Given the description of an element on the screen output the (x, y) to click on. 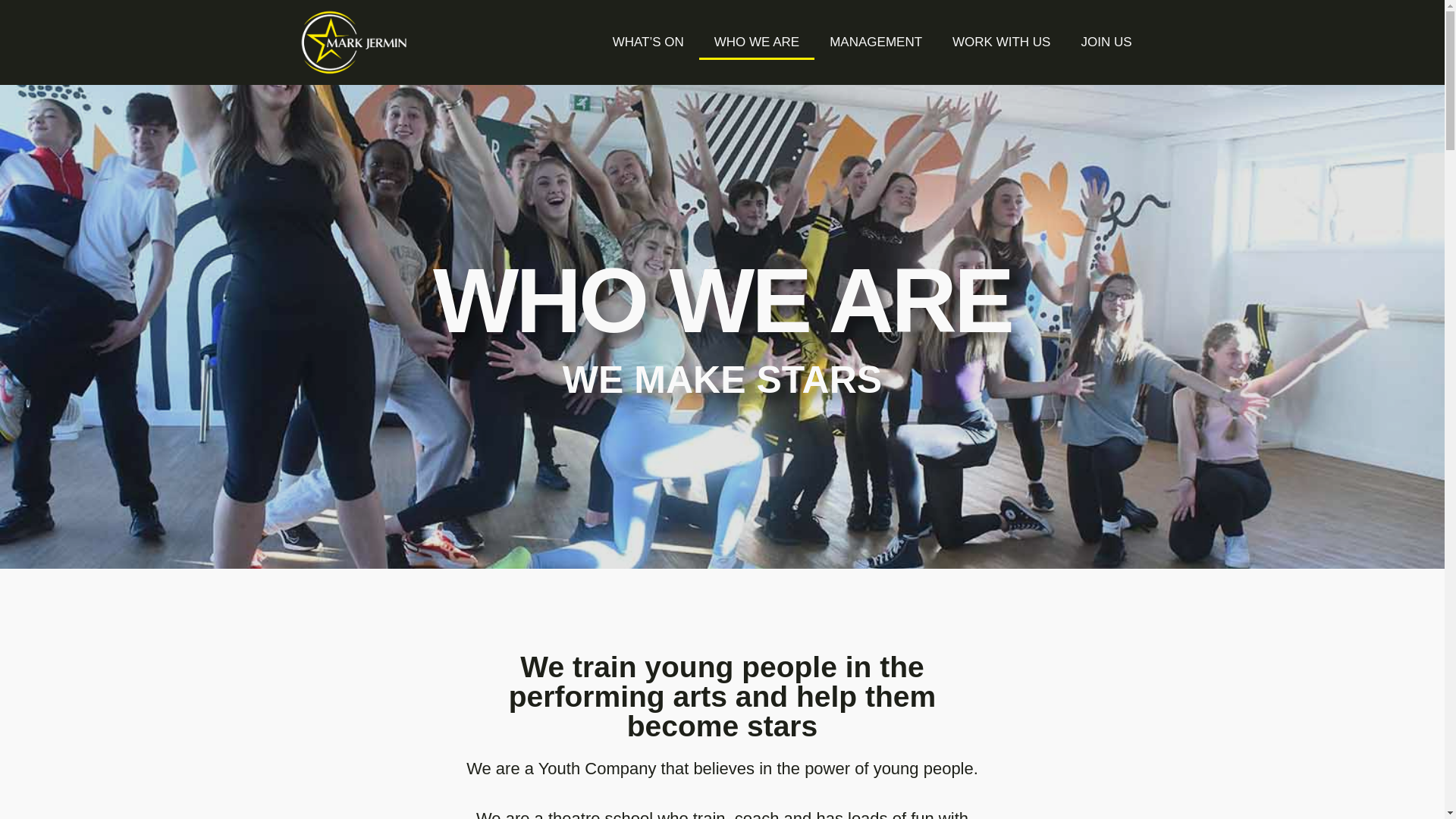
WHO WE ARE (755, 42)
JOIN US (1106, 42)
WORK WITH US (1001, 42)
MANAGEMENT (875, 42)
